Given the description of an element on the screen output the (x, y) to click on. 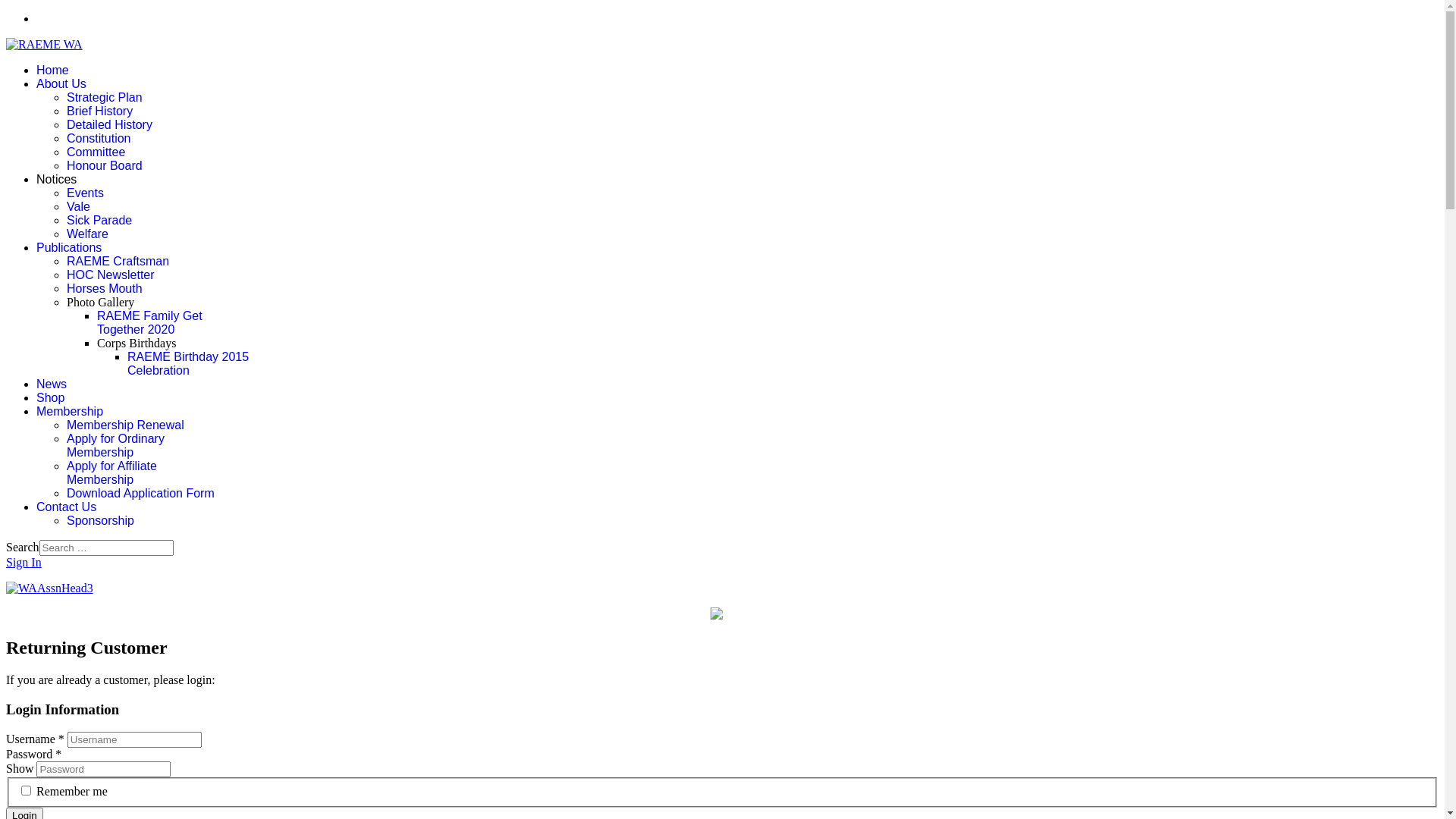
Contact Us Element type: text (66, 506)
RAEME Craftsman Element type: text (117, 260)
News Element type: text (51, 383)
RAEME Family Get Together 2020 Element type: text (149, 322)
Strategic Plan Element type: text (104, 97)
RAEME Birthday 2015 Celebration Element type: text (187, 363)
Apply for Affiliate Membership Element type: text (111, 472)
Publications Element type: text (68, 247)
Constitution Element type: text (98, 137)
Detailed History Element type: text (109, 124)
Honour Board Element type: text (104, 165)
Sponsorship Element type: text (100, 520)
Welfare Element type: text (87, 233)
Committee Element type: text (95, 151)
Sick Parade Element type: text (98, 219)
Sign In Element type: text (23, 561)
Horses Mouth Element type: text (104, 288)
Membership Renewal Element type: text (125, 424)
Events Element type: text (84, 192)
Home Element type: text (52, 69)
Brief History Element type: text (99, 110)
Vale Element type: text (78, 206)
Membership Element type: text (69, 410)
Apply for Ordinary Membership Element type: text (115, 445)
HOC Newsletter Element type: text (110, 274)
Shop Element type: text (50, 397)
About Us Element type: text (61, 83)
Download Application Form Element type: text (140, 492)
